Given the description of an element on the screen output the (x, y) to click on. 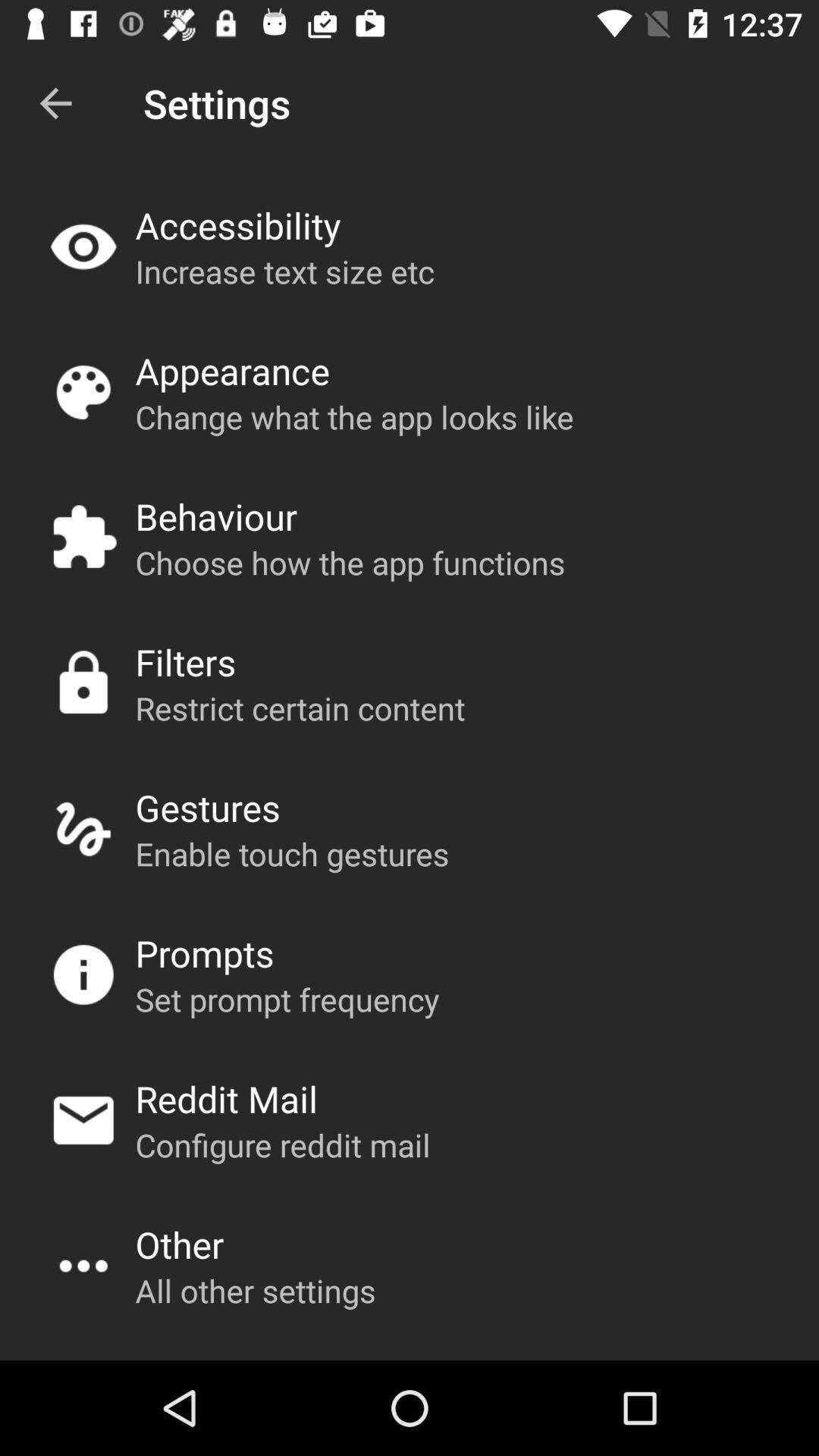
choose app above the reddit mail (287, 998)
